Given the description of an element on the screen output the (x, y) to click on. 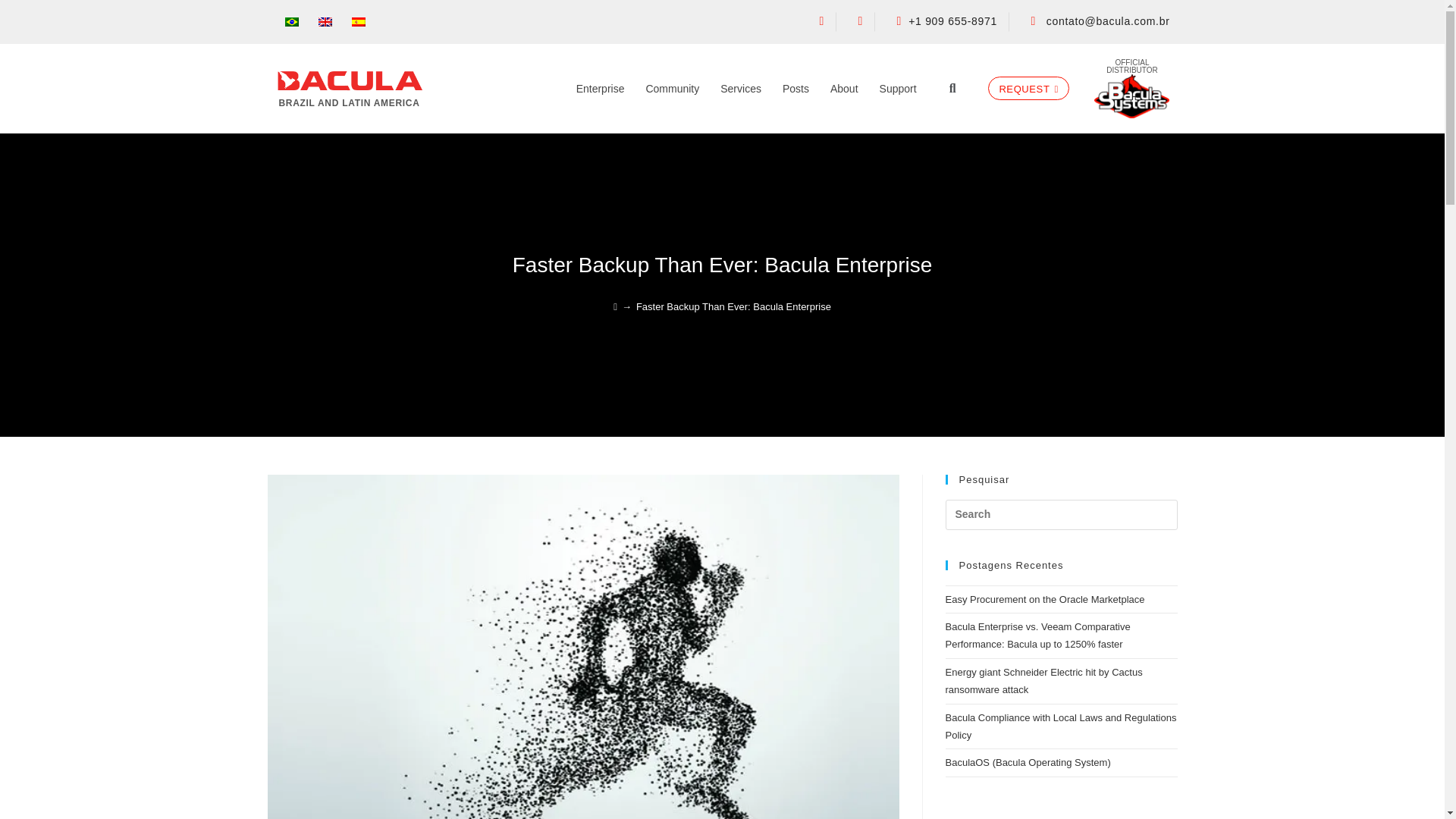
Enterprise (600, 88)
English (324, 21)
Community (672, 88)
